Given the description of an element on the screen output the (x, y) to click on. 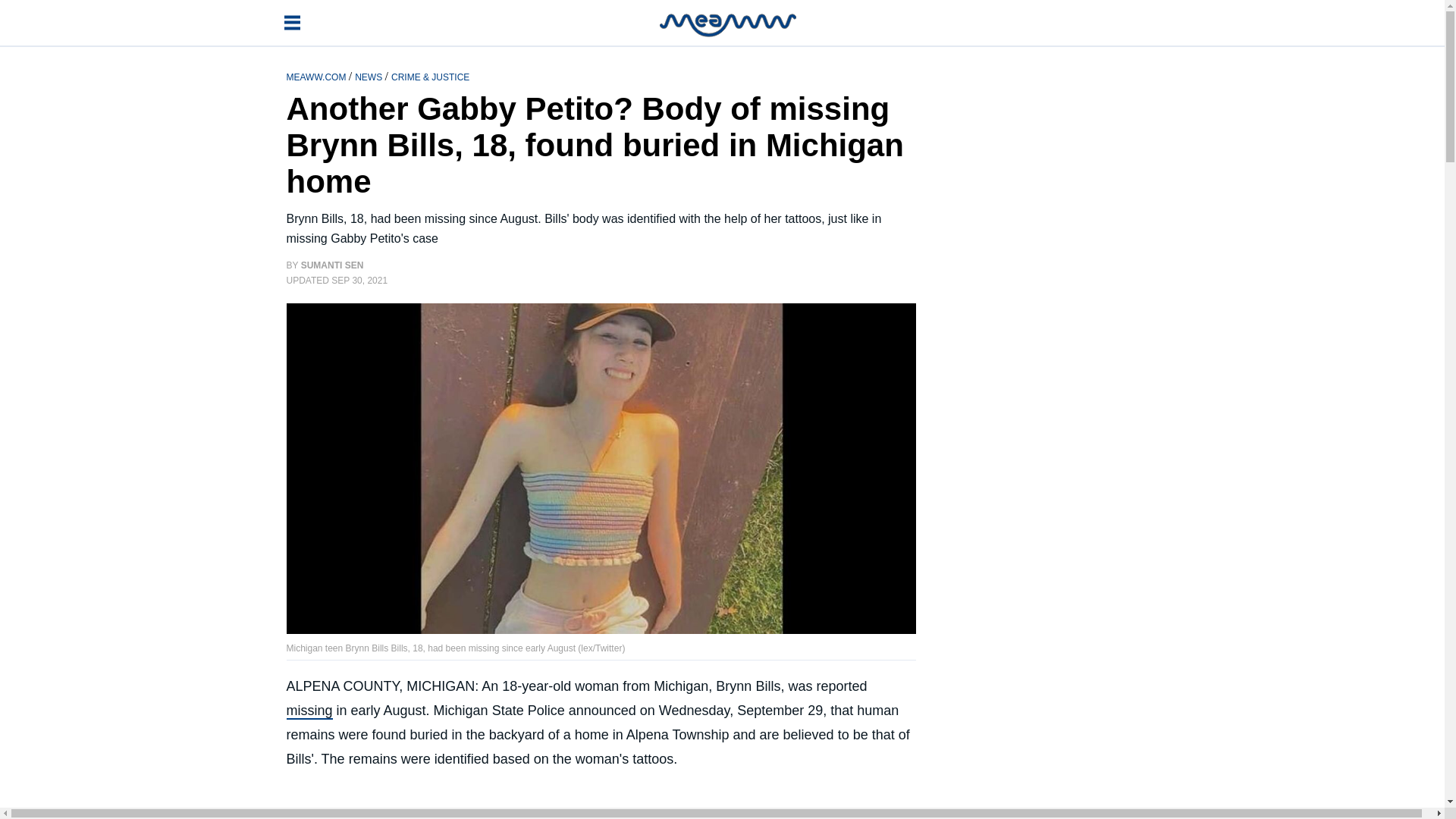
missing (309, 710)
NEWS (369, 75)
SUMANTI SEN (332, 265)
MEAWW.COM (317, 75)
